Given the description of an element on the screen output the (x, y) to click on. 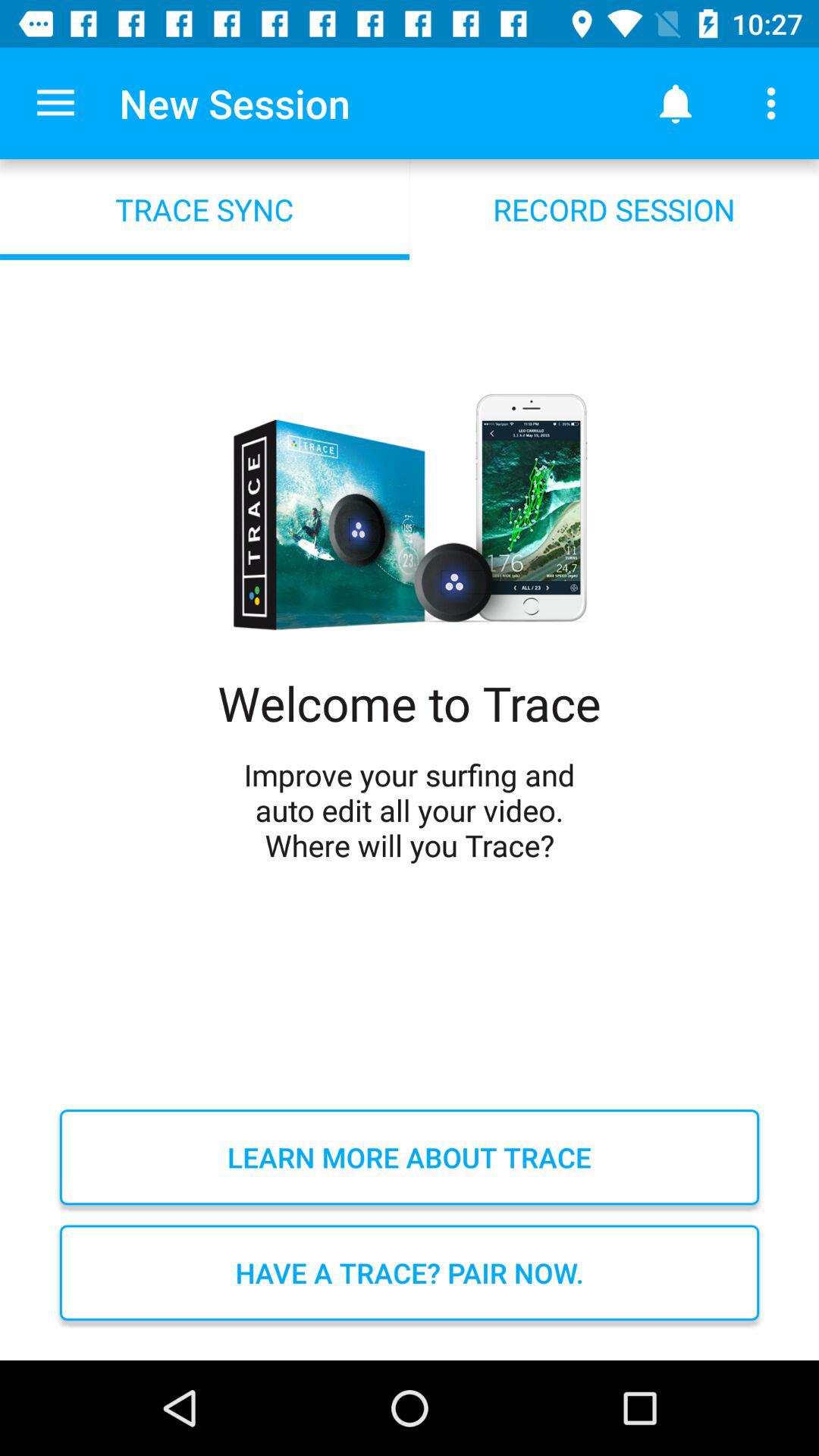
tap icon above have a trace item (409, 1157)
